Given the description of an element on the screen output the (x, y) to click on. 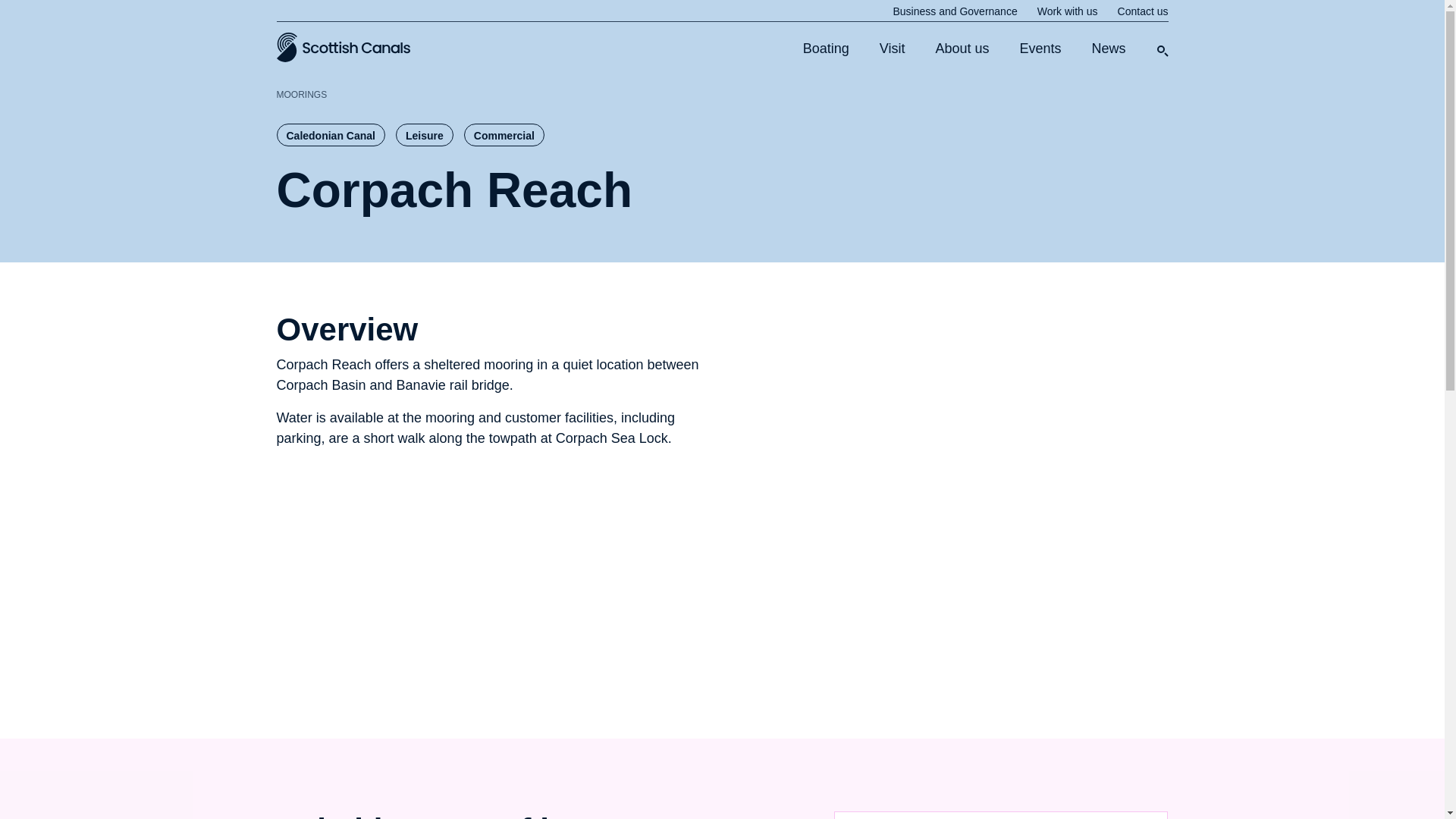
Work with us (1066, 10)
Business and Governance (954, 10)
Contact us (1143, 10)
Visit (892, 48)
Boating (825, 48)
